Given the description of an element on the screen output the (x, y) to click on. 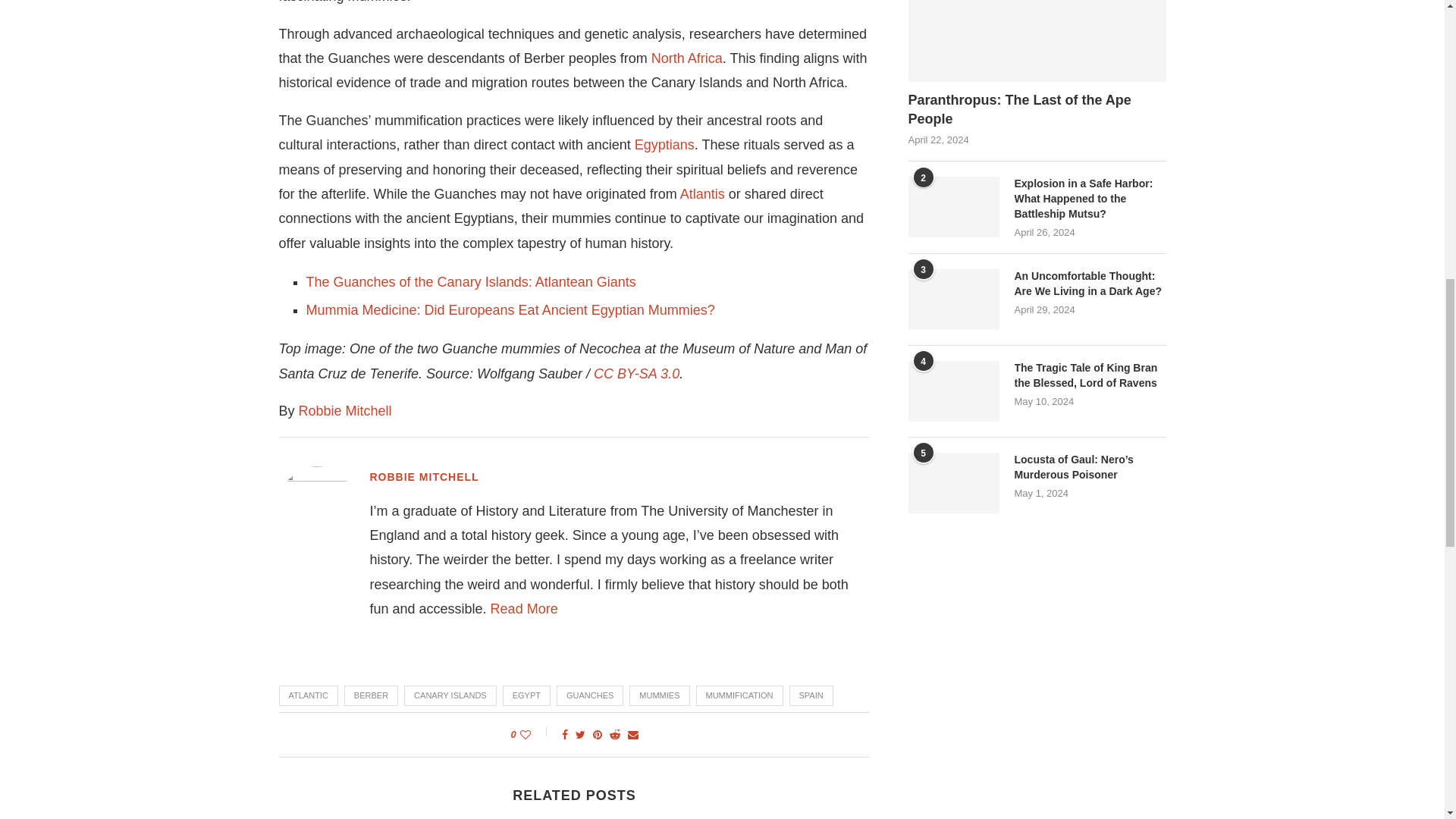
Like (535, 734)
Posts by Robbie Mitchell (424, 476)
Robbie Mitchell (523, 608)
Paranthropus: The Last of the Ape People (1037, 40)
Paranthropus: The Last of the Ape People (1037, 109)
